Given the description of an element on the screen output the (x, y) to click on. 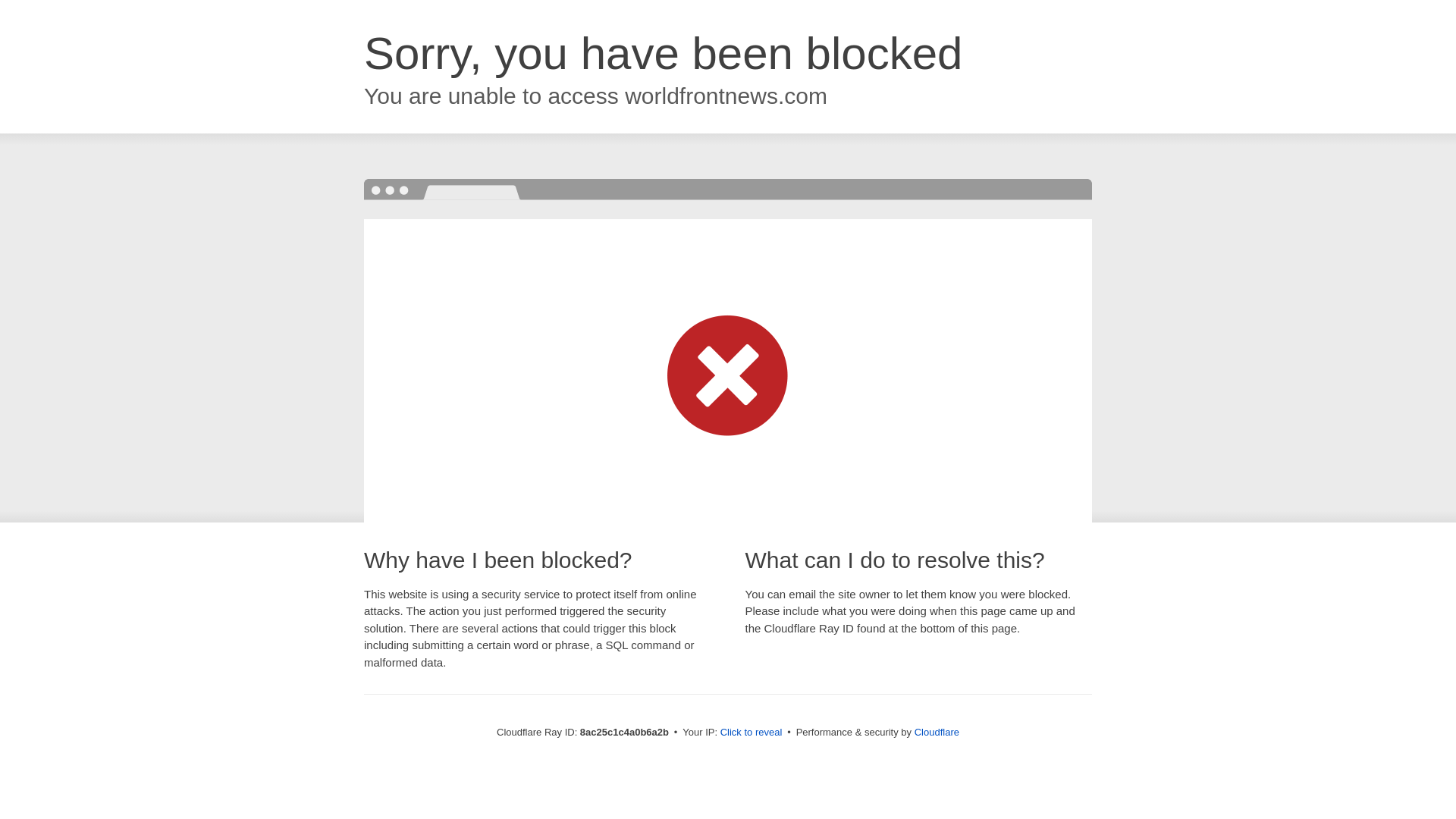
Click to reveal (751, 732)
Cloudflare (936, 731)
